Given the description of an element on the screen output the (x, y) to click on. 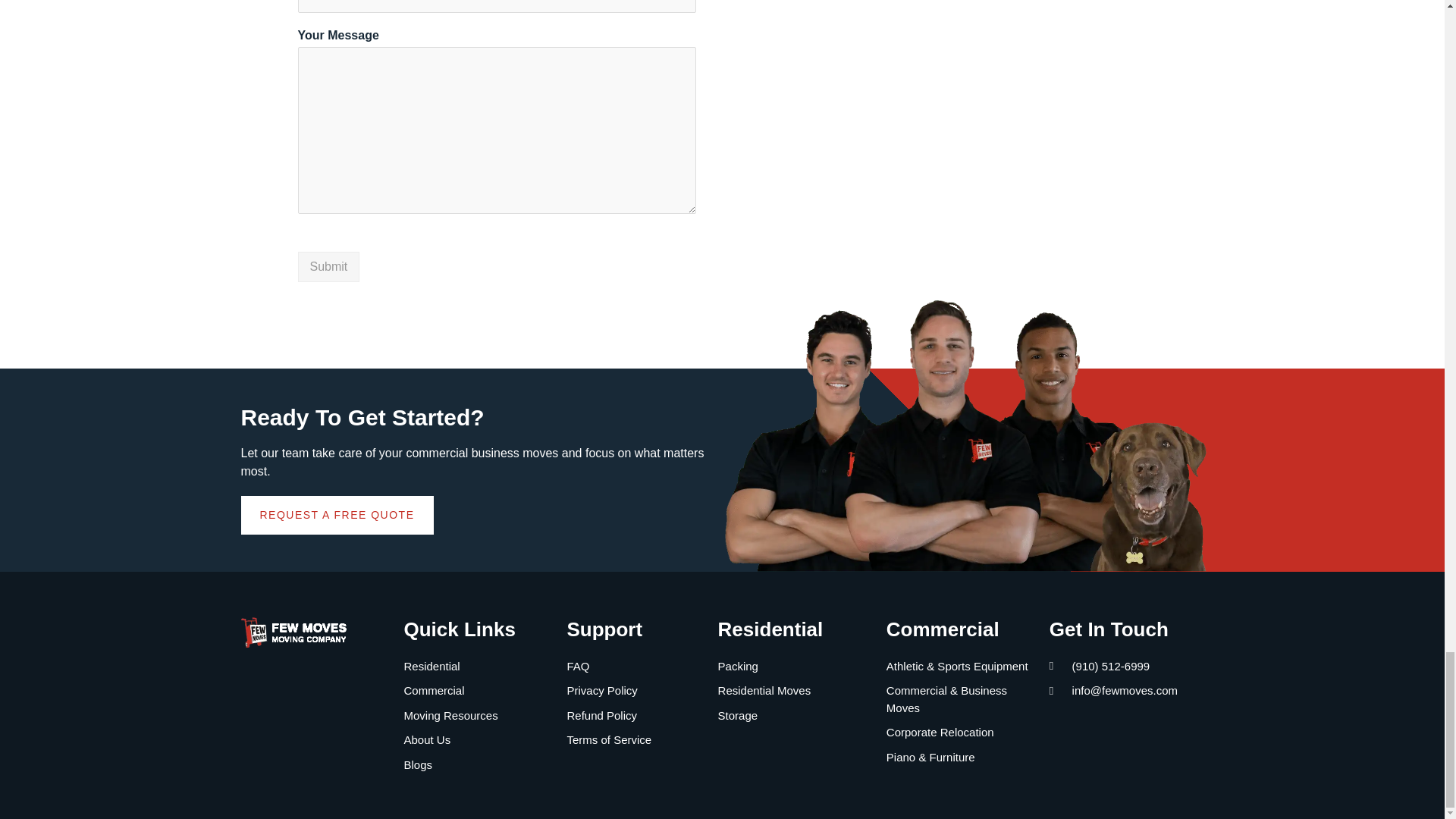
Few Moves Moving Company (948, 59)
